Given the description of an element on the screen output the (x, y) to click on. 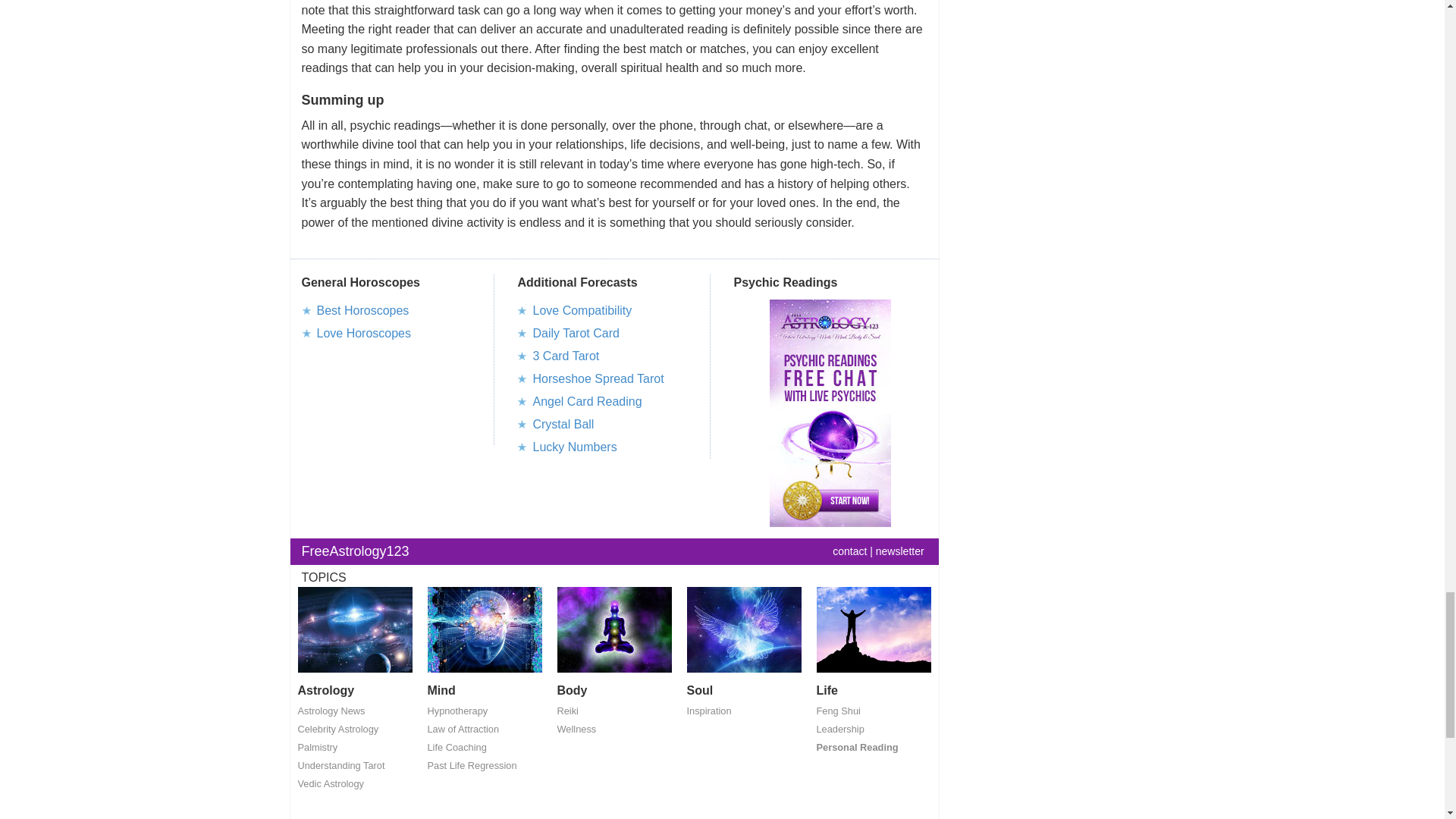
Love Horoscopes (364, 332)
Crystal Ball (563, 423)
Angel Card Reading (587, 400)
Love Compatibility (581, 309)
Body Blog Posts (613, 633)
Daily Horoscope (363, 309)
Soul Blog Posts (744, 633)
3 Card Tarot (565, 355)
Daily Tarot Card (575, 332)
Astrology Blog Posts (354, 633)
Life Blog Posts (872, 633)
Lucky Numbers (573, 446)
Horseshoe Spread Tarot (597, 378)
Mind Blog Posts (484, 633)
